Given the description of an element on the screen output the (x, y) to click on. 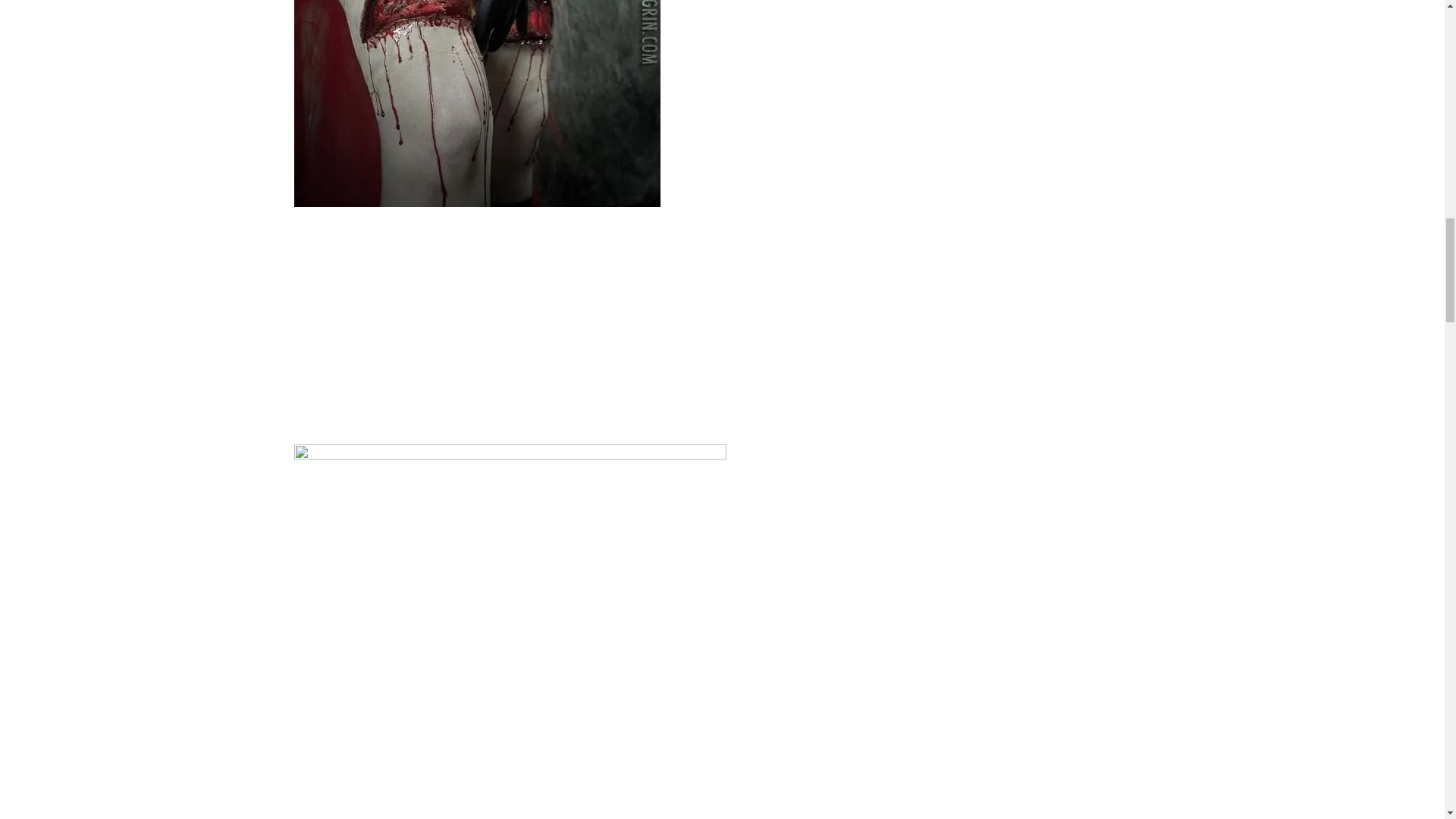
Gartered Leg Prosthetics (510, 586)
